Given the description of an element on the screen output the (x, y) to click on. 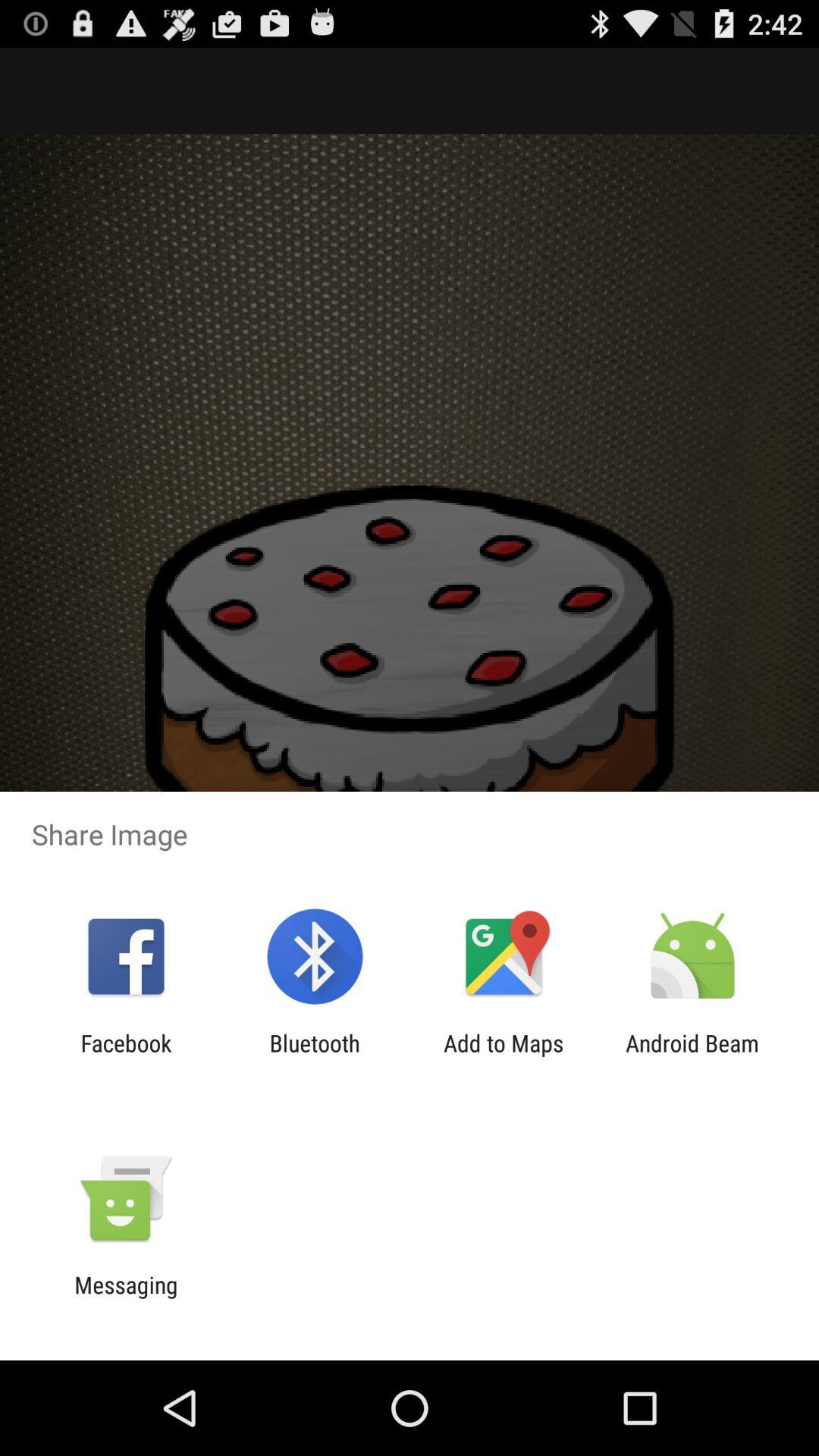
turn on the app to the right of the add to maps app (692, 1056)
